Given the description of an element on the screen output the (x, y) to click on. 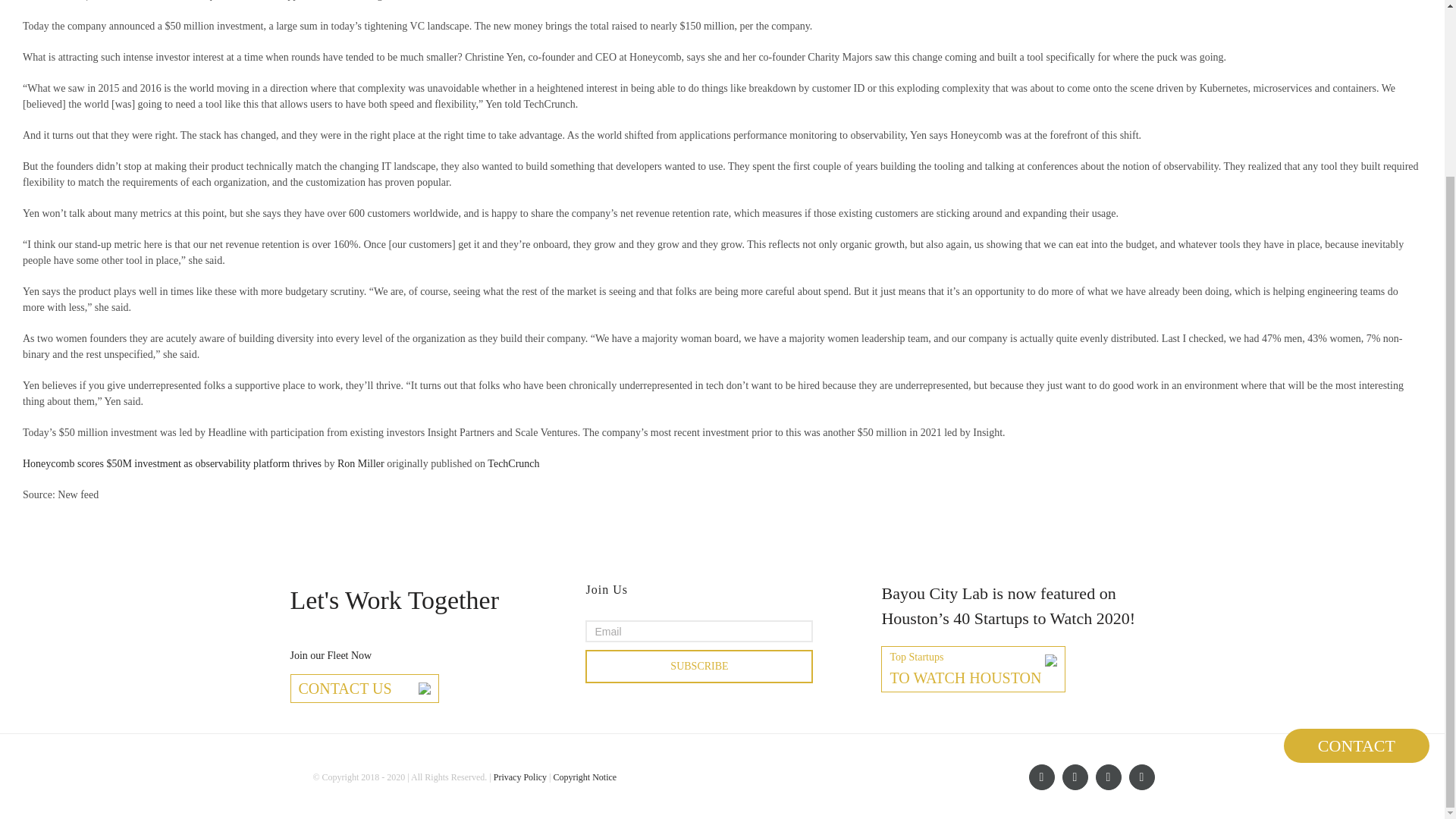
TechCrunch (512, 463)
CONTACT US (364, 688)
Facebook (1040, 777)
Copyright Notice (584, 777)
Subscribe (698, 666)
Subscribe (698, 666)
CONTACT (1356, 530)
Instagram (1141, 777)
Twitter (1107, 777)
Privacy Policy (520, 777)
Linkedin (1074, 777)
Ron Miller (973, 669)
